Given the description of an element on the screen output the (x, y) to click on. 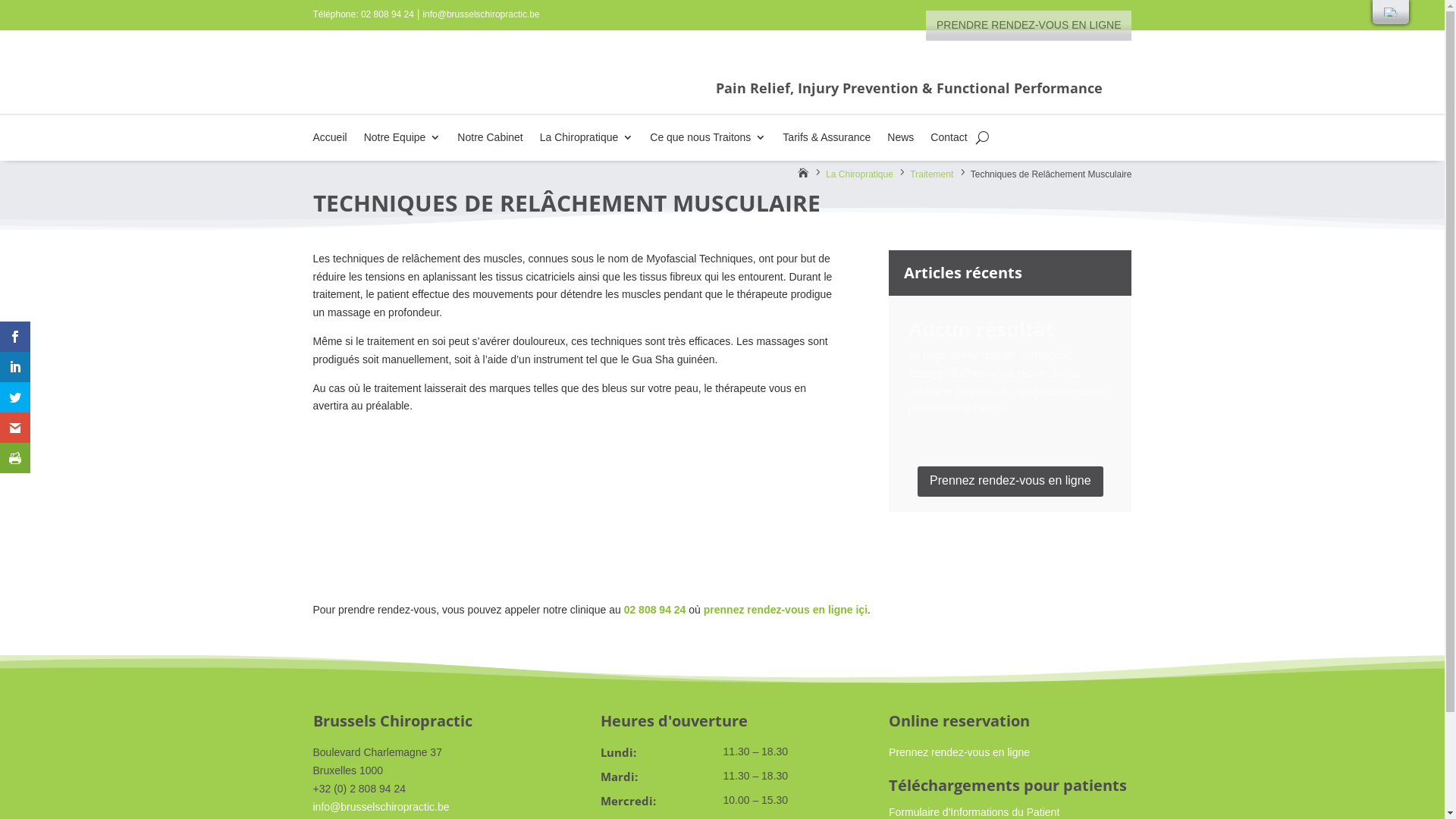
info@brusselschiropractic.be Element type: text (480, 14)
info@brusselschiropractic.be Element type: text (380, 806)
News Element type: text (900, 140)
Contact Element type: text (948, 140)
Formulaire d'Informations du Patient Element type: text (973, 812)
La Chiropratique Element type: text (586, 140)
Accueil Element type: text (329, 140)
La Chiropratique Element type: text (860, 174)
Ce que nous Traitons Element type: text (707, 140)
French Element type: hover (1390, 11)
Traitement Element type: text (932, 174)
02 808 94 24 Element type: text (655, 609)
Notre Cabinet Element type: text (489, 140)
Notre Equipe Element type: text (402, 140)
Prennez rendez-vous en ligne Element type: text (1010, 481)
Prennez rendez-vous en ligne Element type: text (958, 752)
Tarifs & Assurance Element type: text (826, 140)
